Given the description of an element on the screen output the (x, y) to click on. 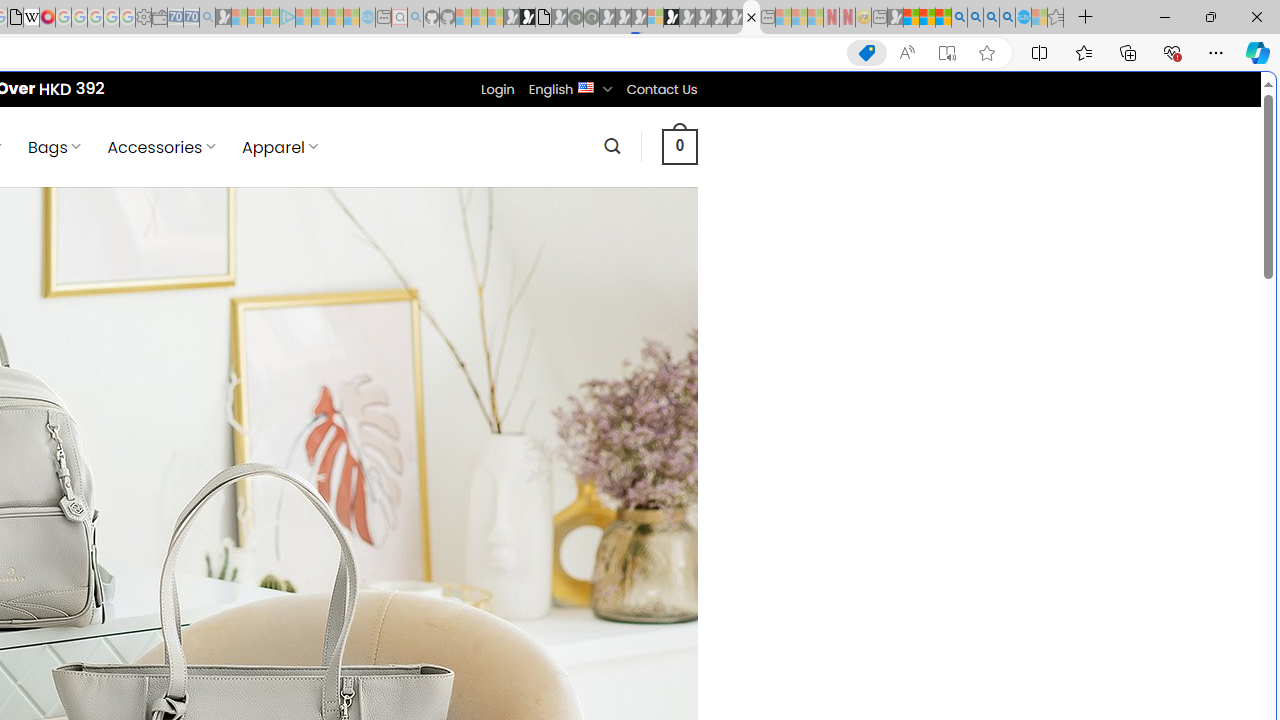
Contact Us (661, 89)
Future Focus Report 2024 - Sleeping (591, 17)
Home | Sky Blue Bikes - Sky Blue Bikes (687, 426)
Play Cave FRVR in your browser | Games from Microsoft Start (343, 426)
Services - Maintenance | Sky Blue Bikes - Sky Blue Bikes (1023, 17)
